Given the description of an element on the screen output the (x, y) to click on. 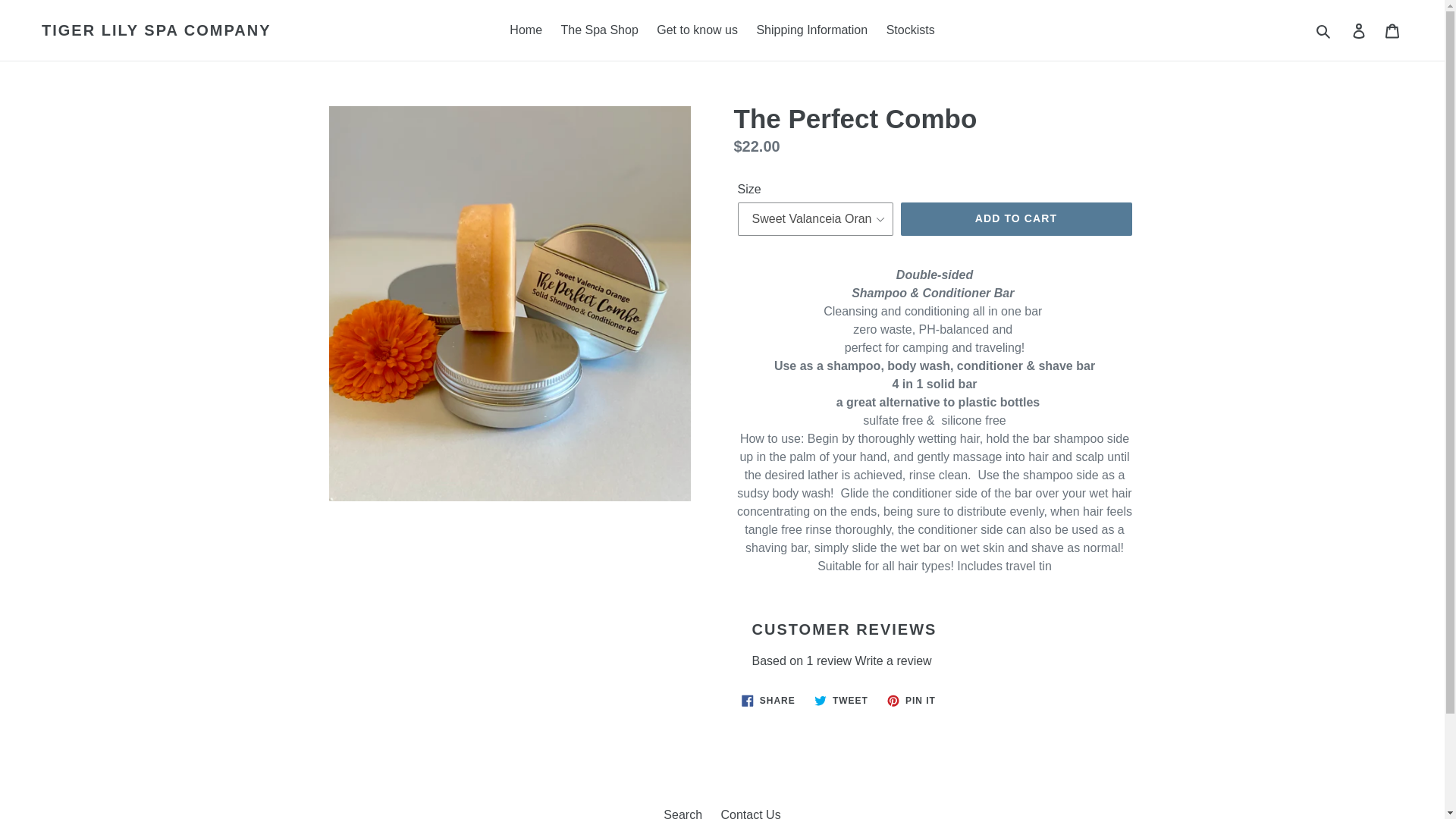
Contact Us (750, 813)
Write a review (893, 659)
Search (682, 813)
Get to know us (697, 29)
Shipping Information (811, 29)
TIGER LILY SPA COMPANY (156, 30)
Log in (841, 700)
Cart (1359, 30)
Submit (911, 700)
The Spa Shop (1392, 30)
Stockists (1324, 29)
ADD TO CART (599, 29)
